Given the description of an element on the screen output the (x, y) to click on. 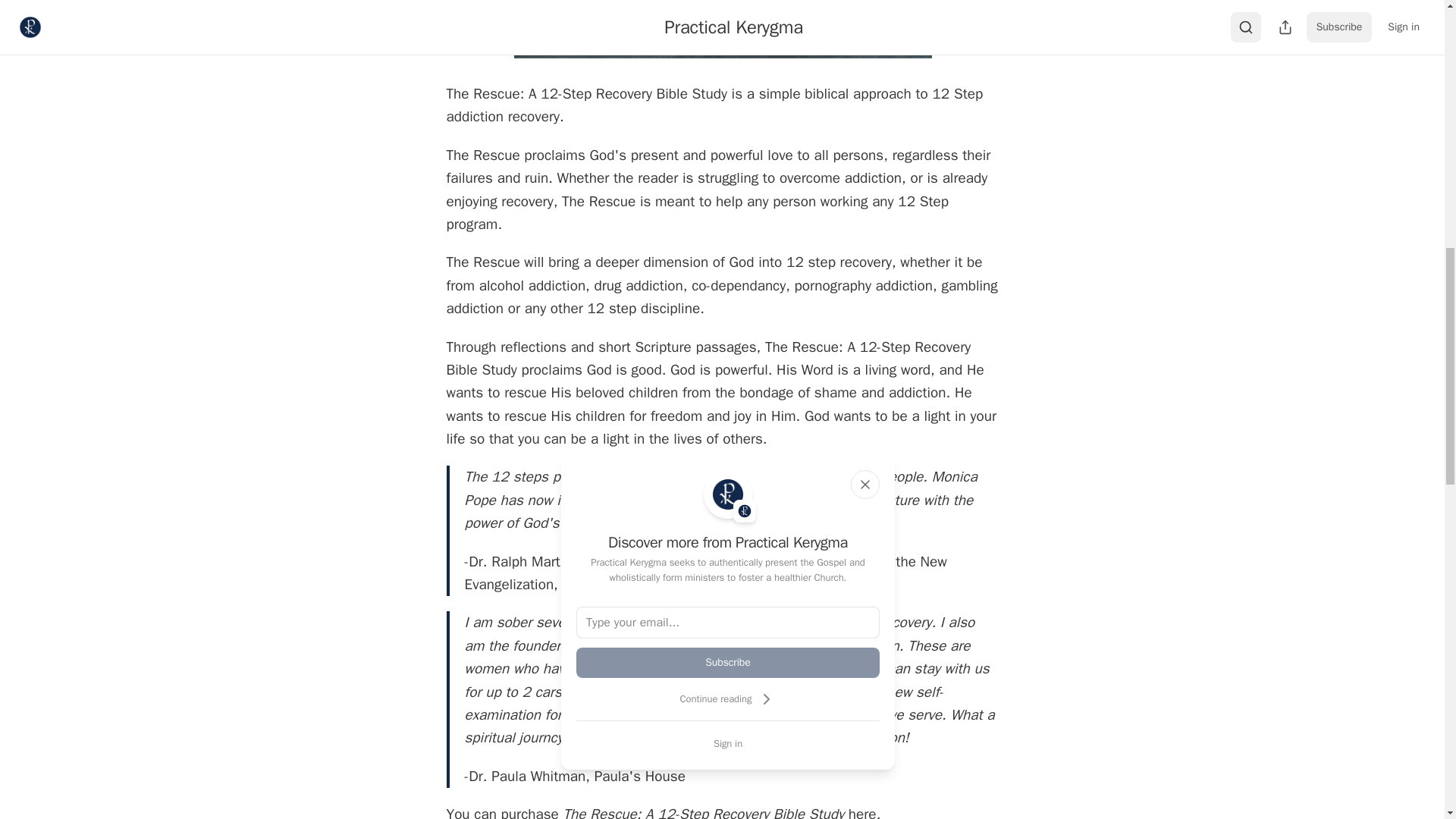
Subscribe (727, 662)
here (862, 812)
Sign in (727, 743)
